Given the description of an element on the screen output the (x, y) to click on. 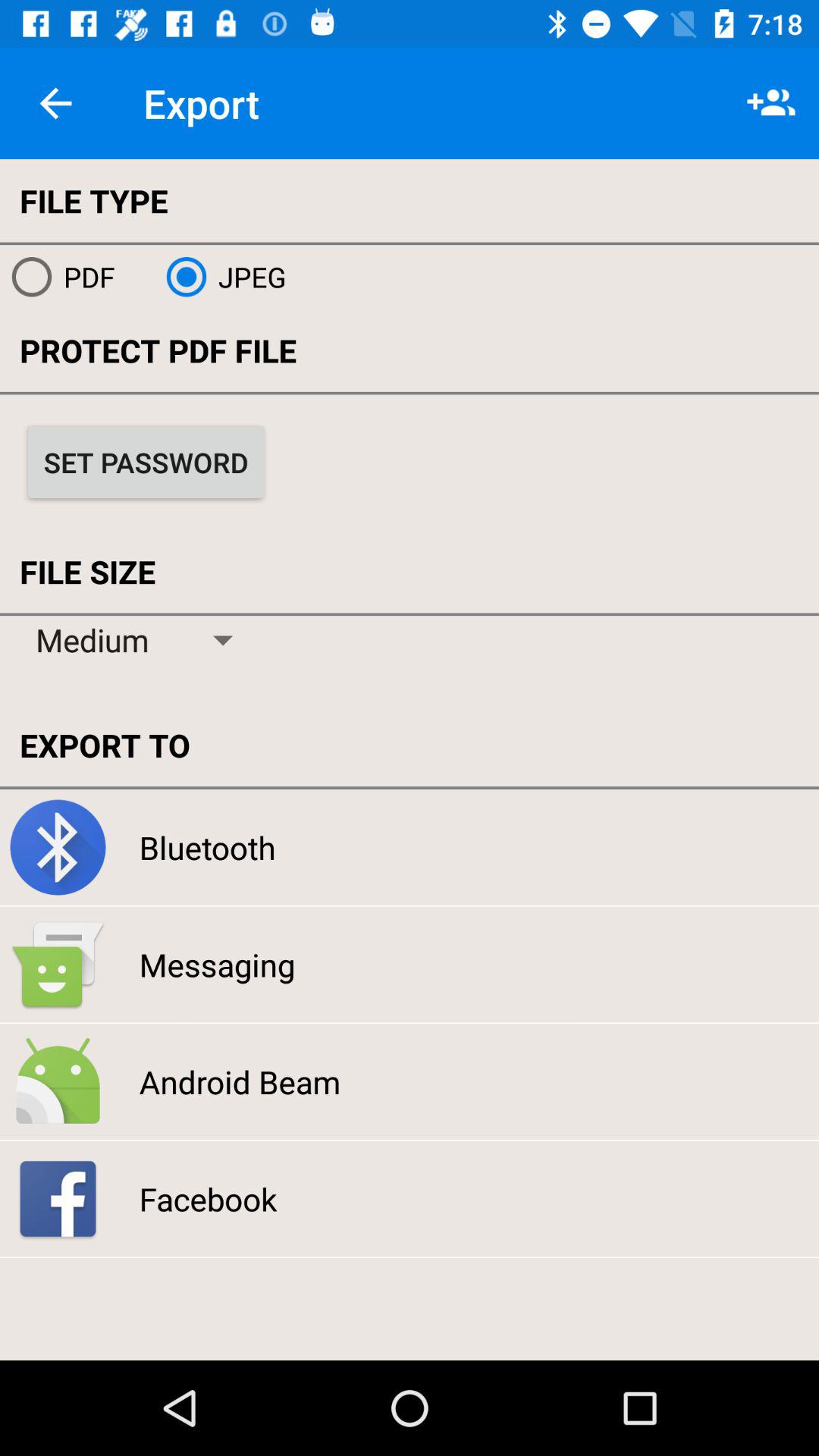
turn on the icon above facebook icon (239, 1081)
